Given the description of an element on the screen output the (x, y) to click on. 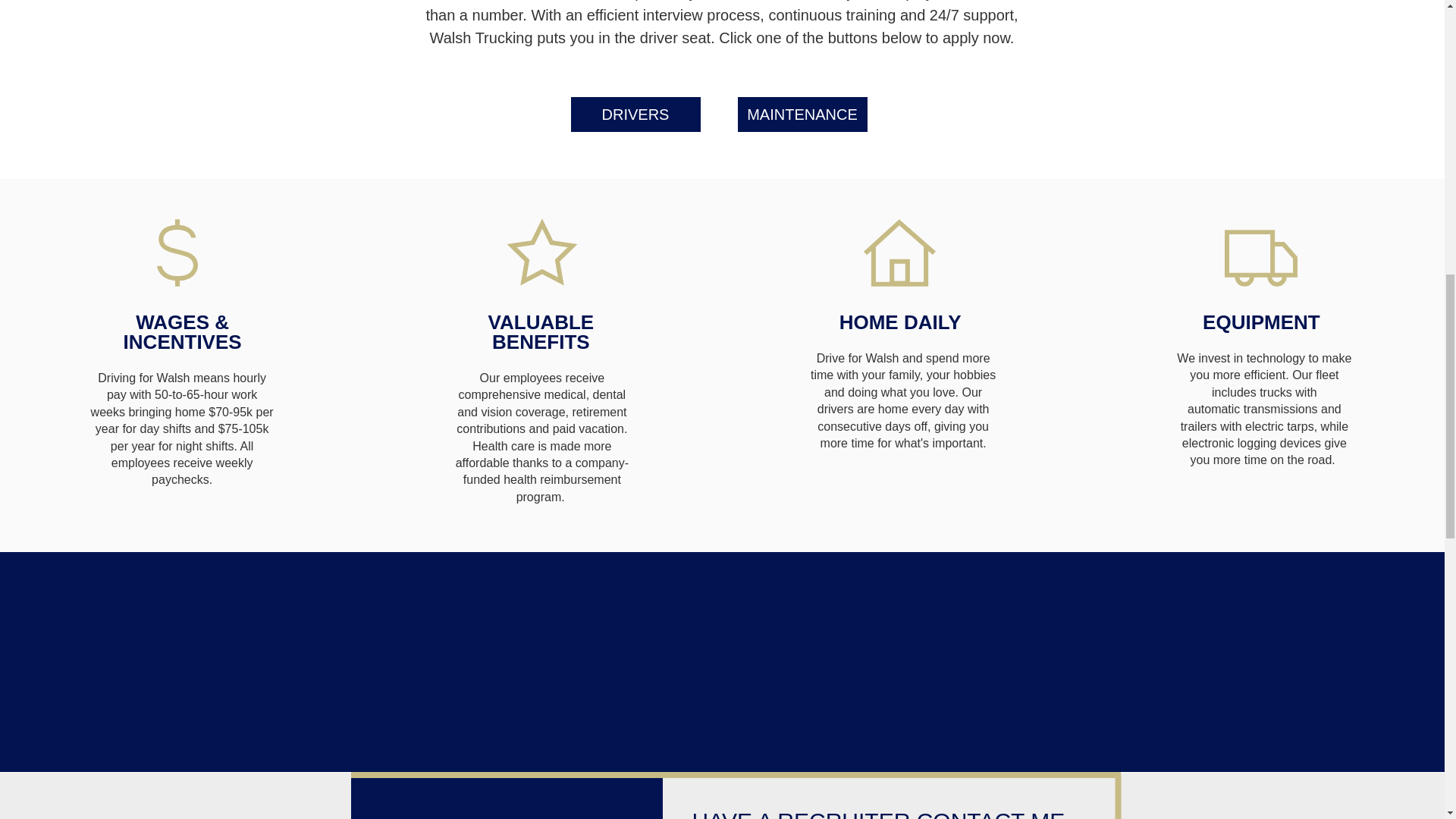
DRIVERS (635, 114)
MAINTENANCE (801, 114)
